Given the description of an element on the screen output the (x, y) to click on. 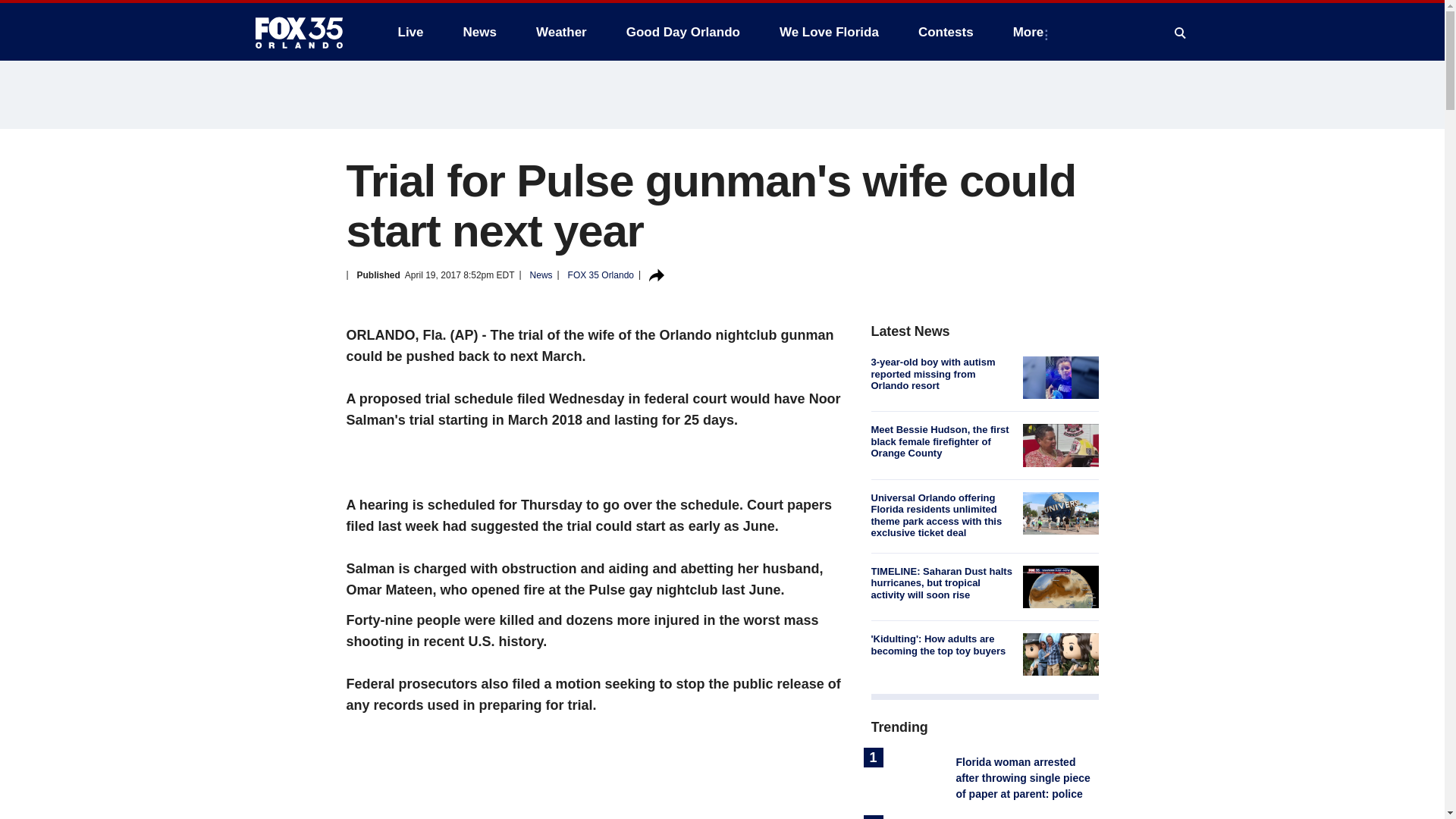
Contests (945, 32)
Good Day Orlando (683, 32)
Live (410, 32)
We Love Florida (829, 32)
More (1031, 32)
Weather (561, 32)
News (479, 32)
